Given the description of an element on the screen output the (x, y) to click on. 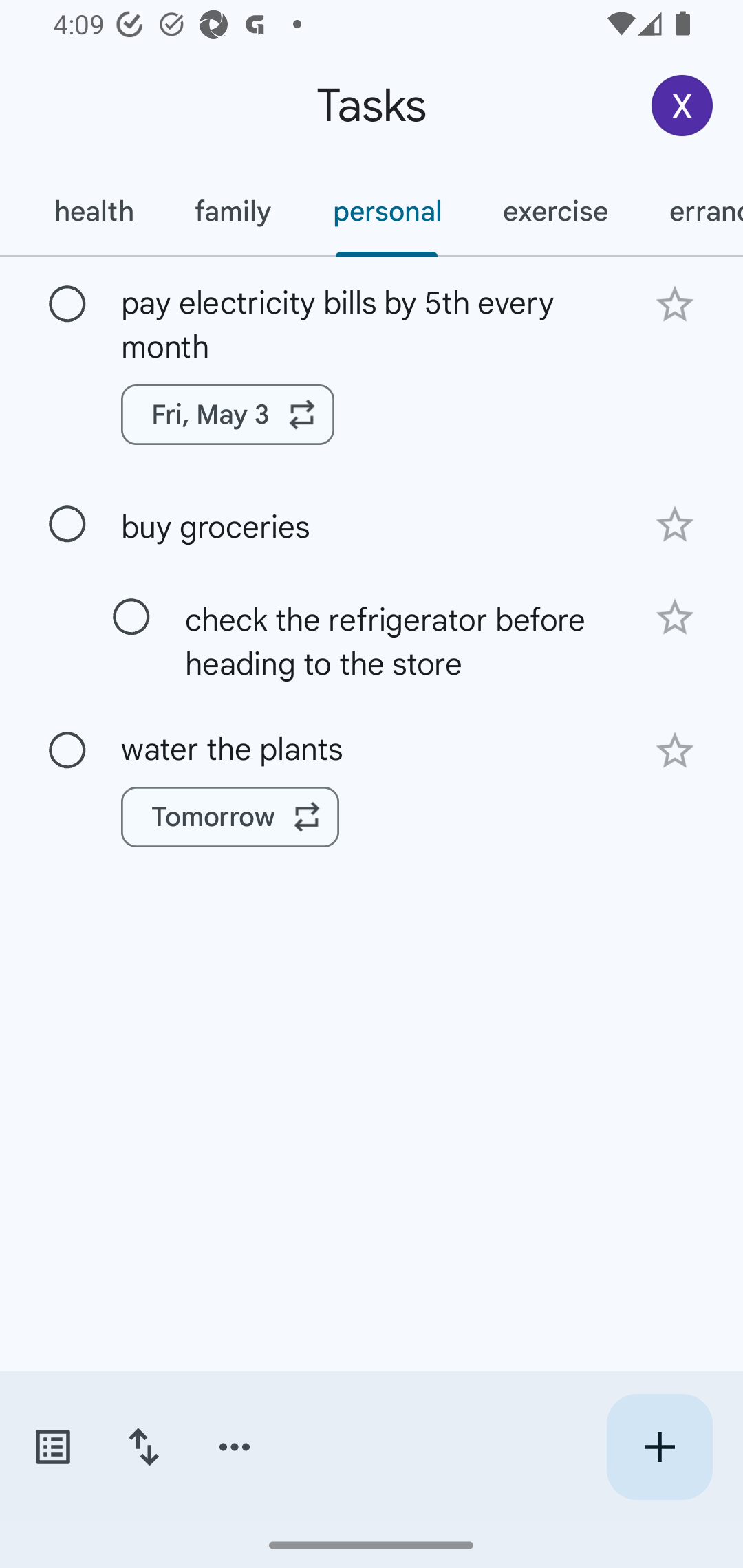
health (93, 211)
family (232, 211)
exercise (554, 211)
errands (690, 211)
Add star (674, 303)
Mark as complete (67, 304)
Fri, May 3 (227, 414)
Add star (674, 524)
Mark as complete (67, 524)
Add star (674, 617)
Mark as complete (131, 616)
Add star (674, 750)
Mark as complete (67, 750)
Tomorrow (229, 816)
Switch task lists (52, 1447)
Create new task (659, 1446)
Change sort order (143, 1446)
More options (234, 1446)
